Given the description of an element on the screen output the (x, y) to click on. 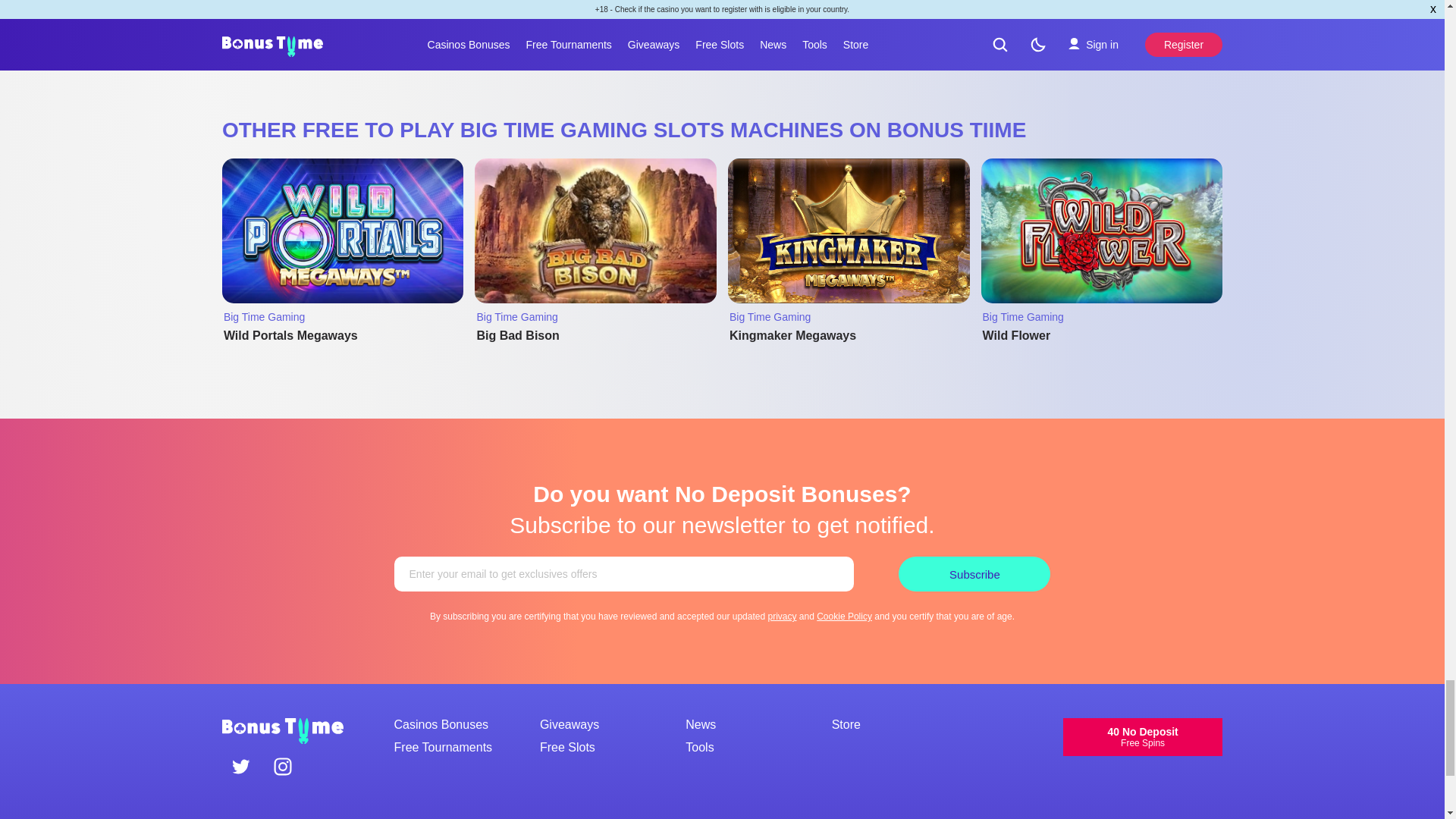
Instagram (282, 767)
Twitter (241, 767)
Subscribe (973, 573)
